Given the description of an element on the screen output the (x, y) to click on. 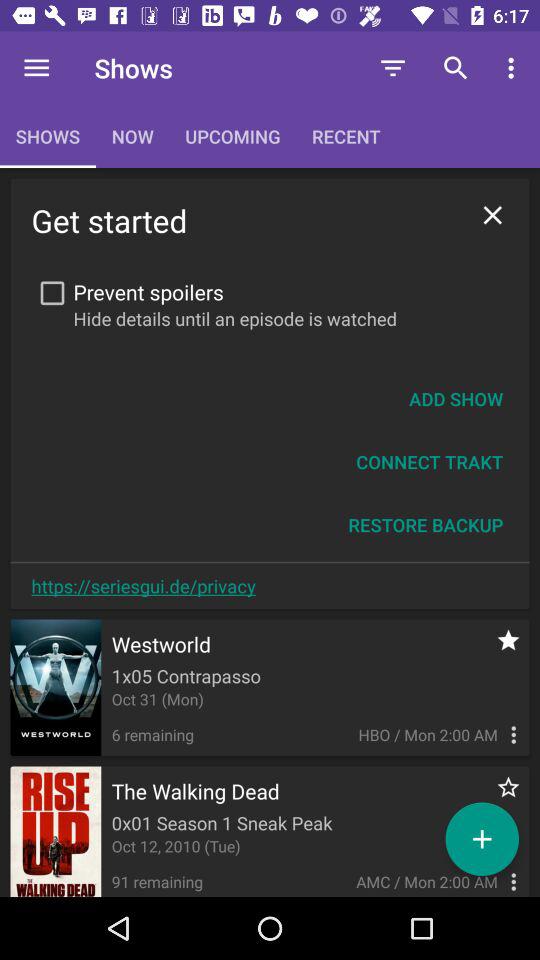
flip until restore backup icon (425, 524)
